Given the description of an element on the screen output the (x, y) to click on. 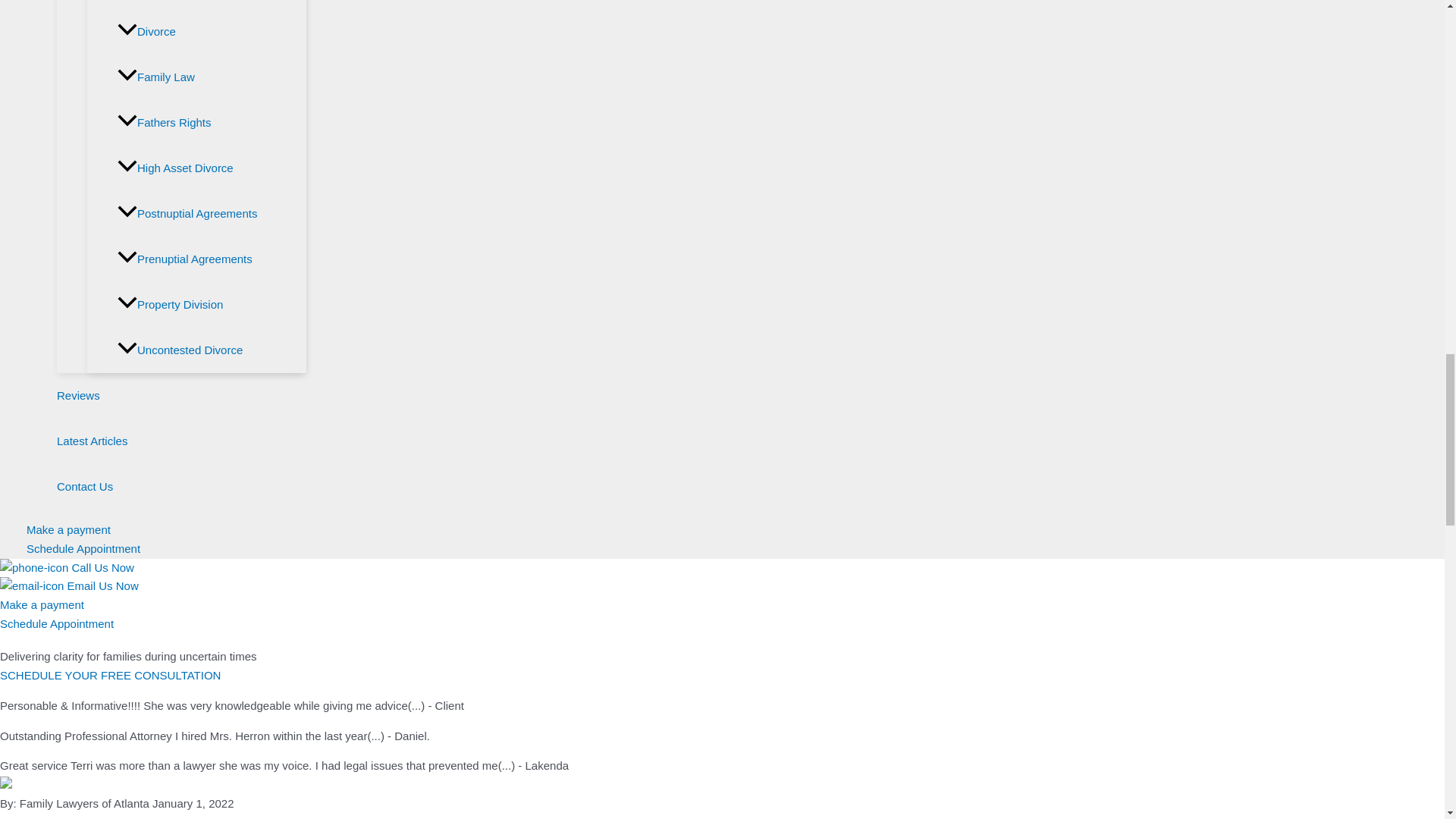
Divorce (211, 31)
Child Support (211, 4)
Family Law (211, 76)
